Given the description of an element on the screen output the (x, y) to click on. 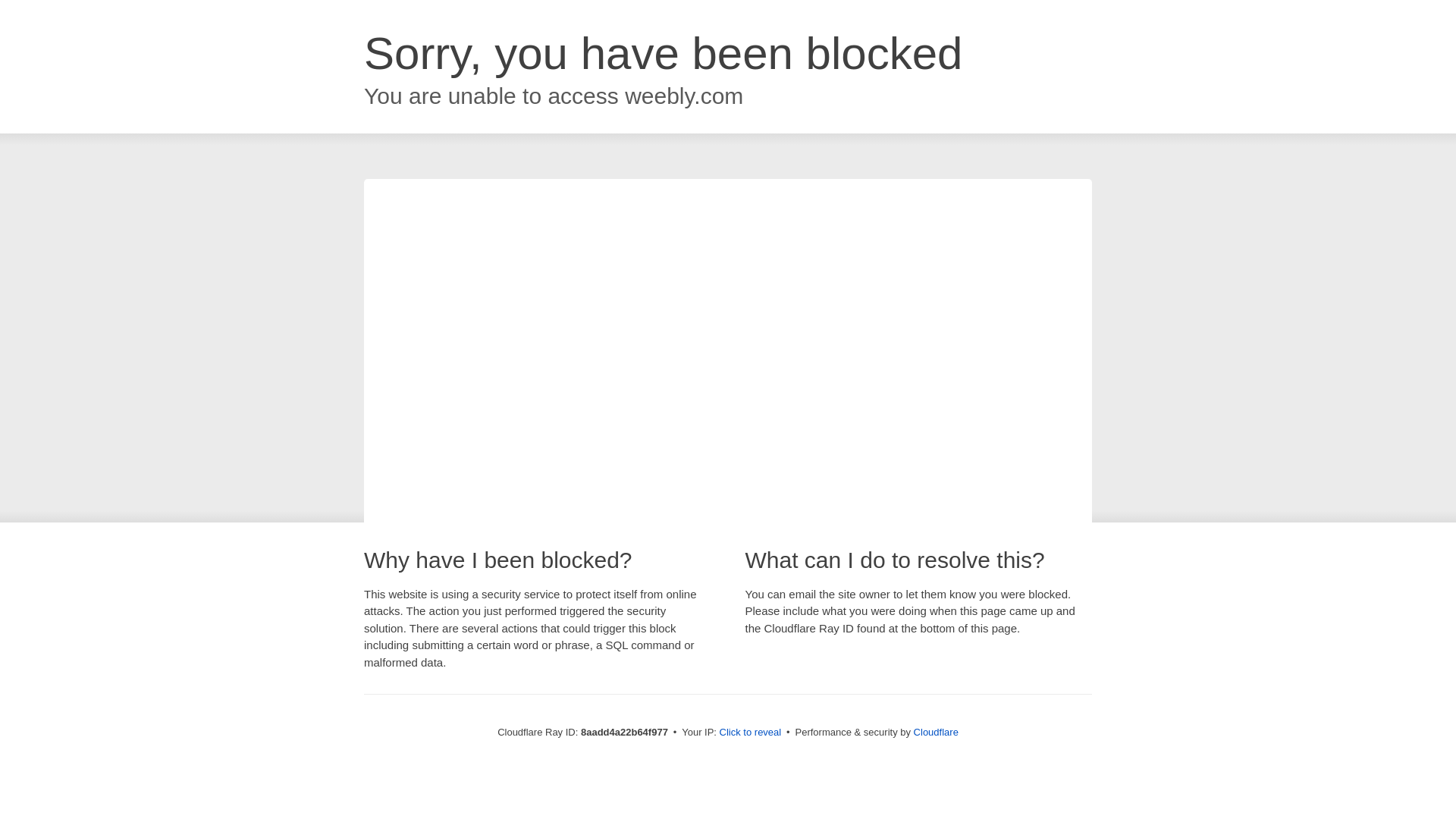
Cloudflare (936, 731)
Click to reveal (750, 732)
